Given the description of an element on the screen output the (x, y) to click on. 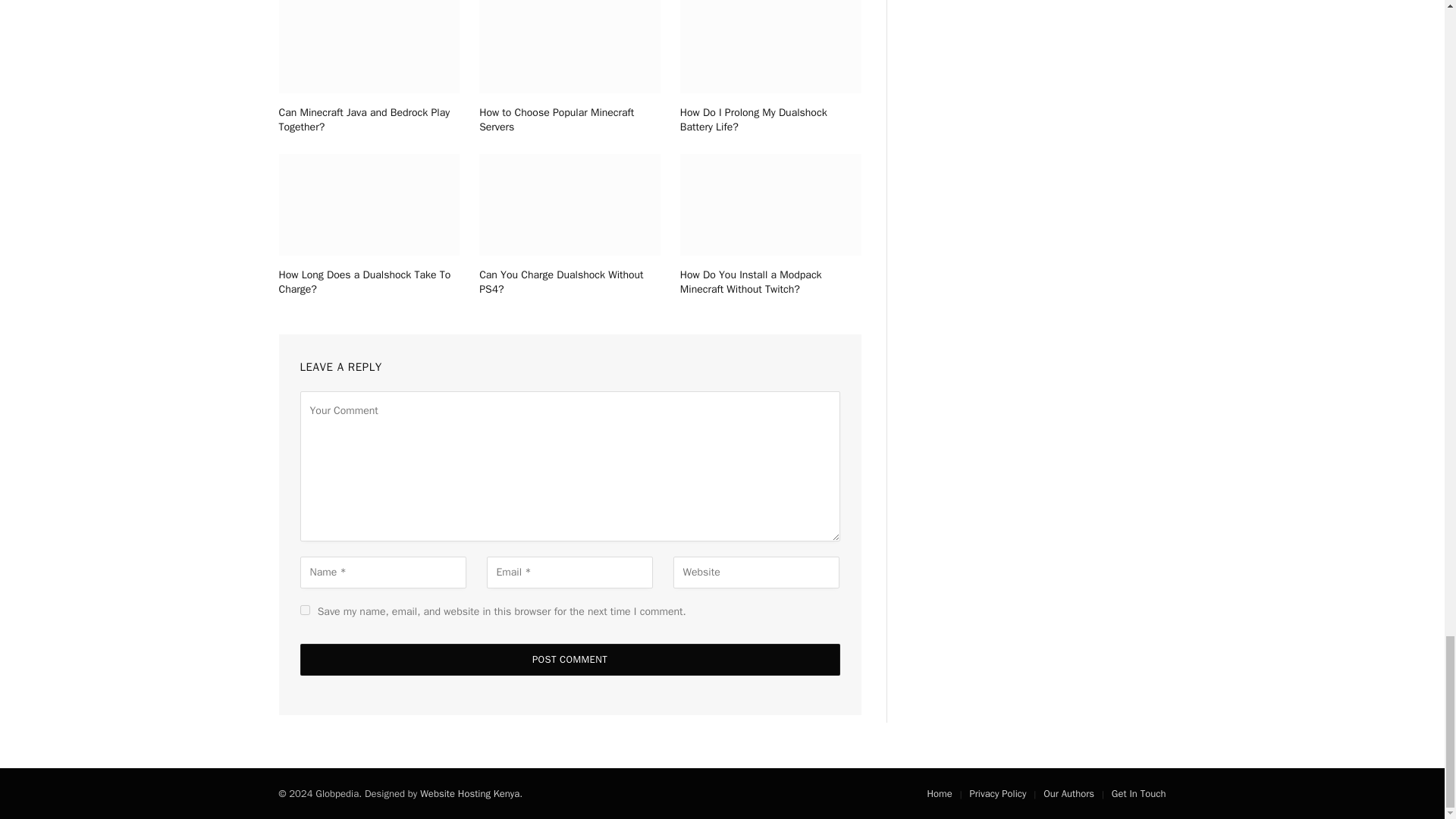
yes (304, 610)
Post Comment (569, 659)
